Given the description of an element on the screen output the (x, y) to click on. 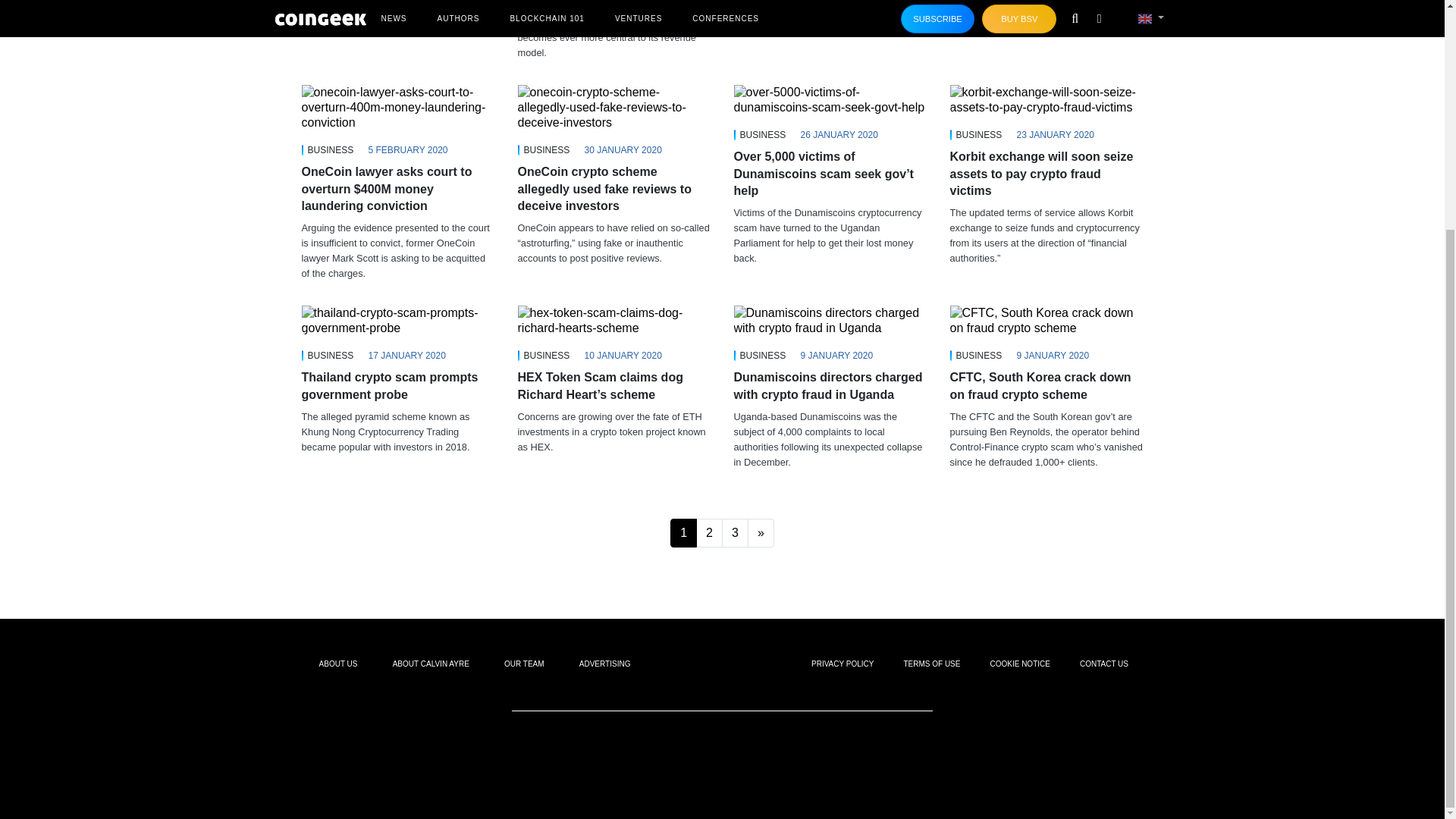
over-5000-victims-of-dunamiscoins-scam-seek-govt-help (830, 100)
hex-token-scam-claims-dog-richard-hearts-scheme (613, 320)
CFTC, South Korea crack down on fraud crypto scheme (1045, 320)
Dunamiscoins directors charged with crypto fraud in Uganda (830, 320)
thailand-crypto-scam-prompts-government-probe (398, 320)
